Given the description of an element on the screen output the (x, y) to click on. 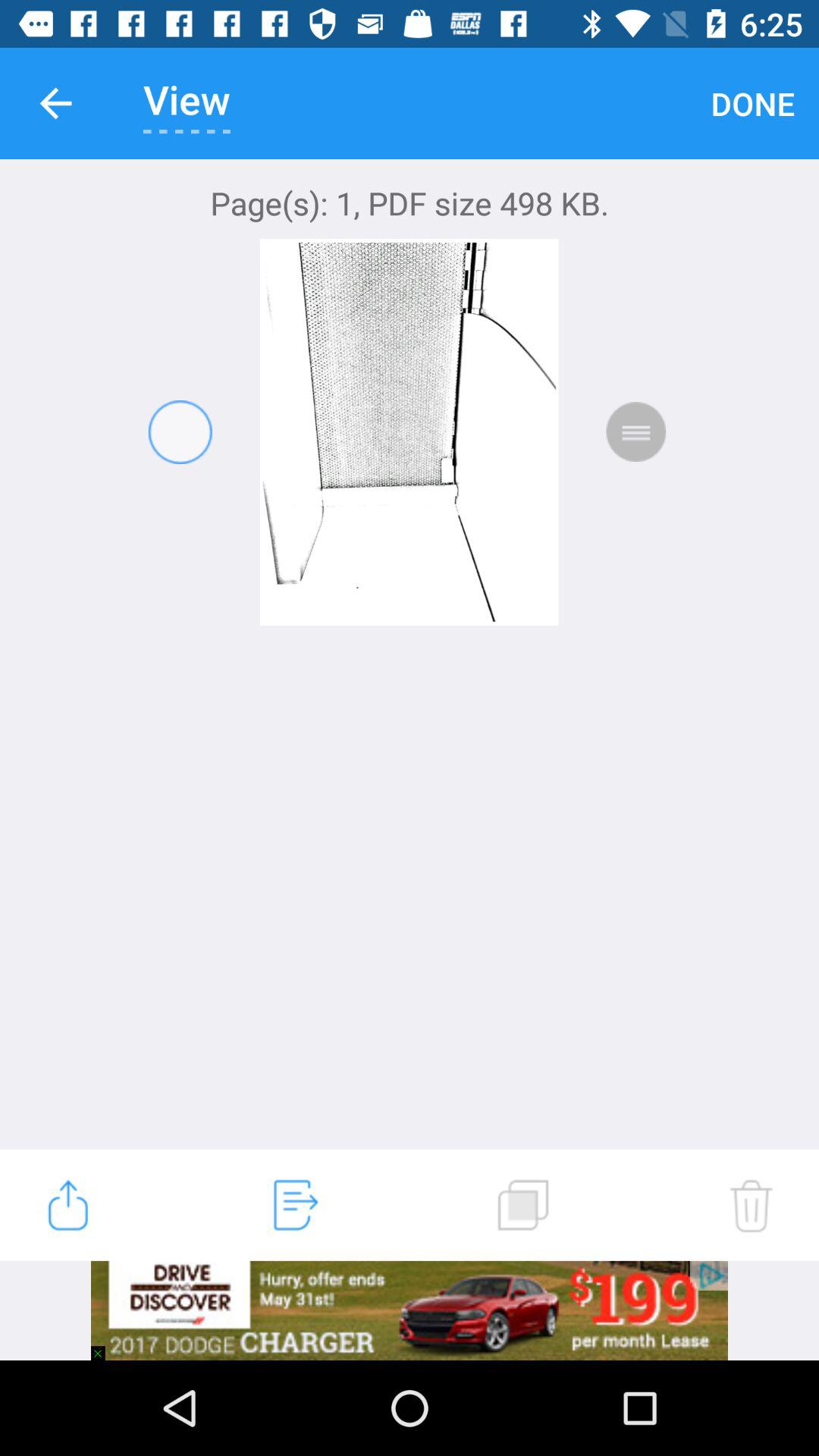
select the item at the bottom right corner (751, 1204)
